Given the description of an element on the screen output the (x, y) to click on. 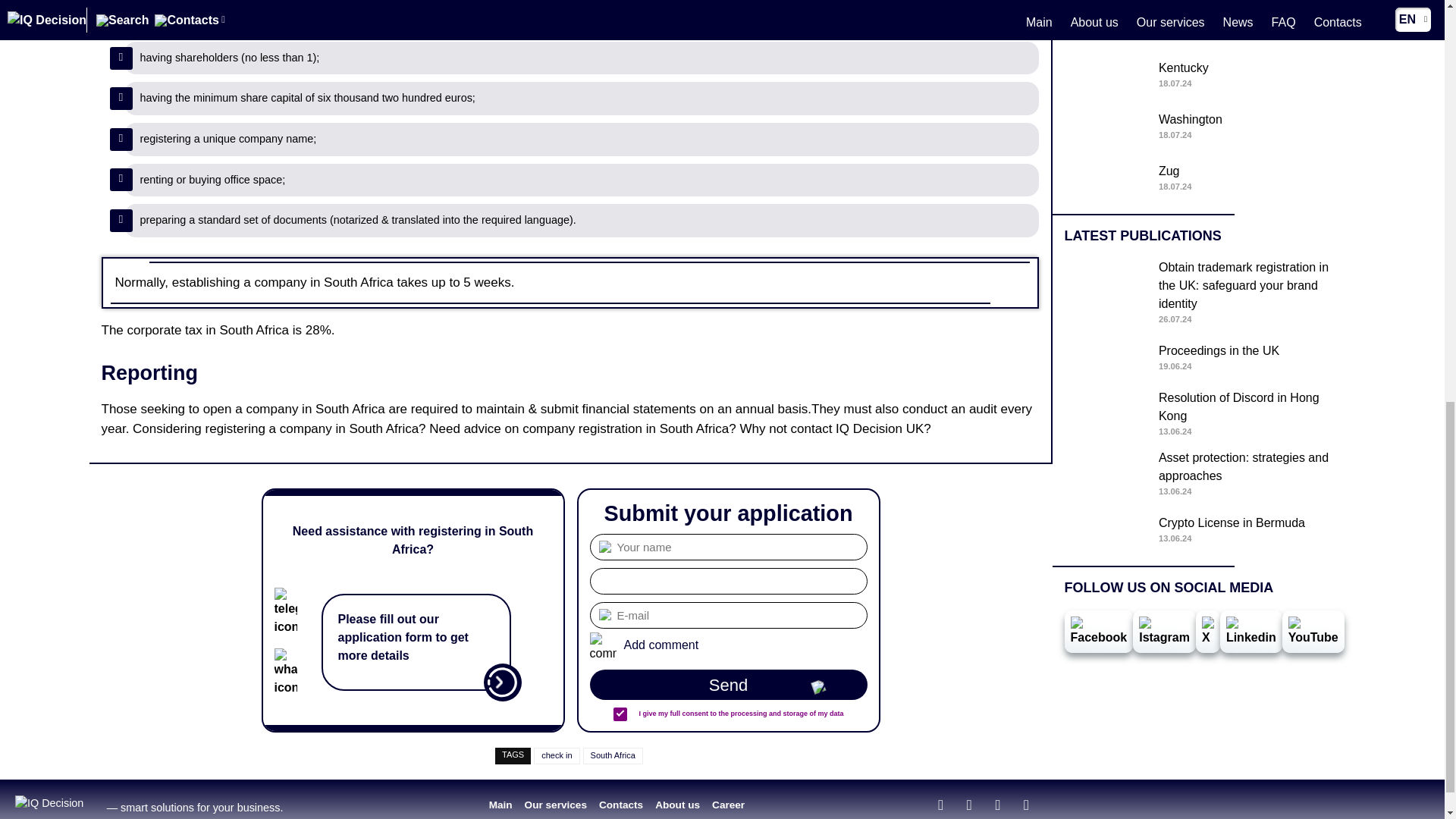
South Africa (612, 755)
check in (1203, 24)
Send (1203, 76)
